Given the description of an element on the screen output the (x, y) to click on. 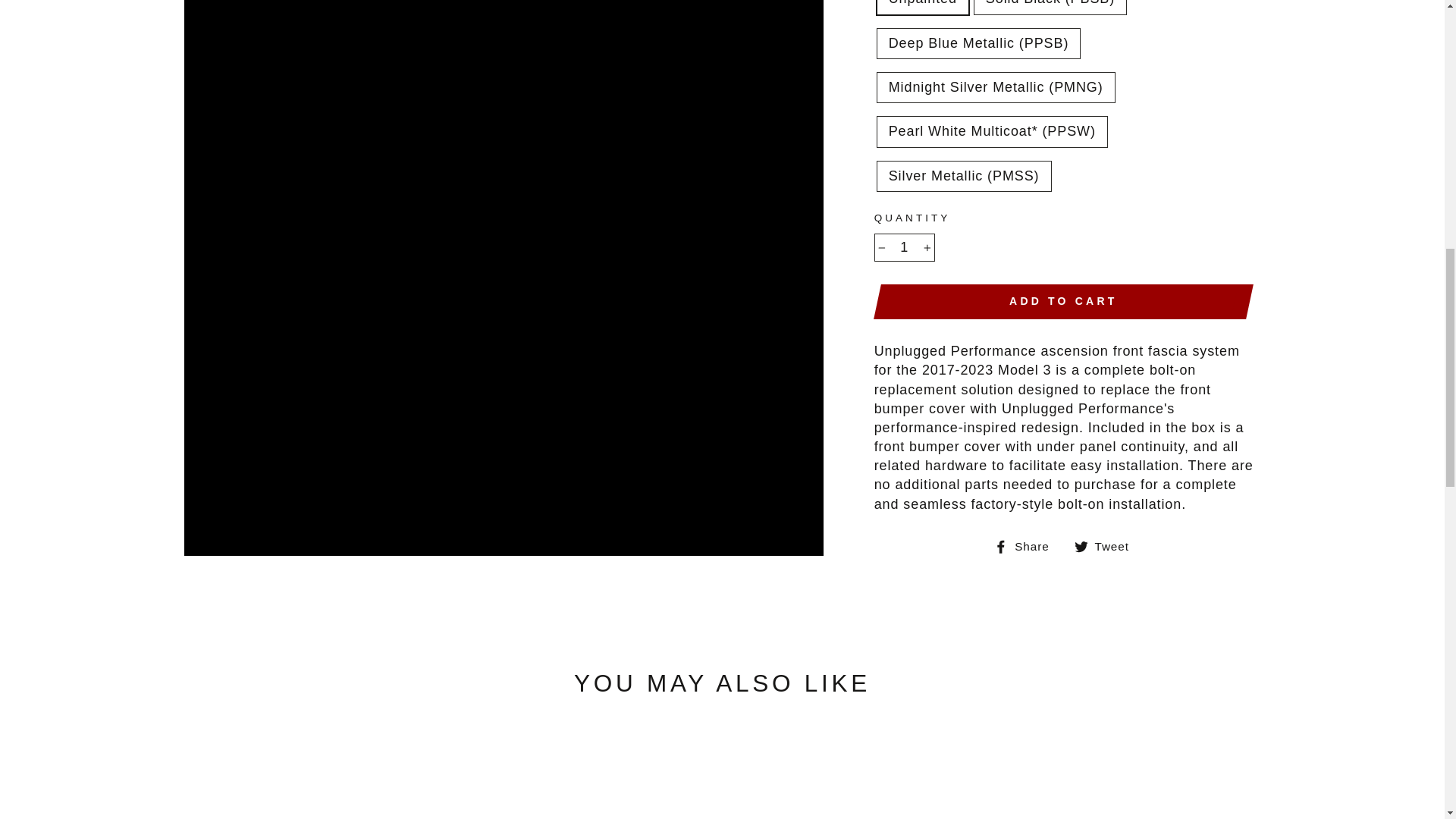
1 (904, 247)
Share on Facebook (1026, 546)
Tweet on Twitter (1107, 546)
